Given the description of an element on the screen output the (x, y) to click on. 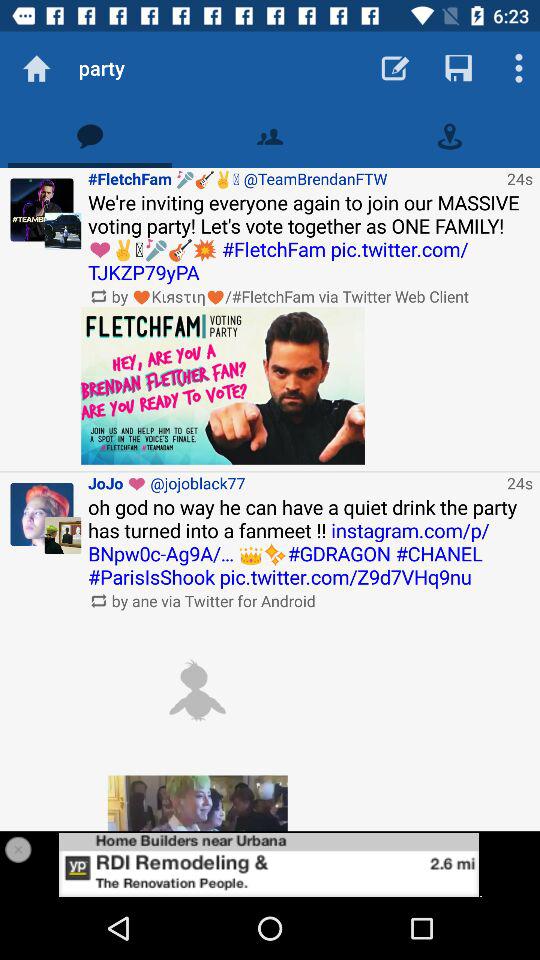
location button (450, 136)
